Given the description of an element on the screen output the (x, y) to click on. 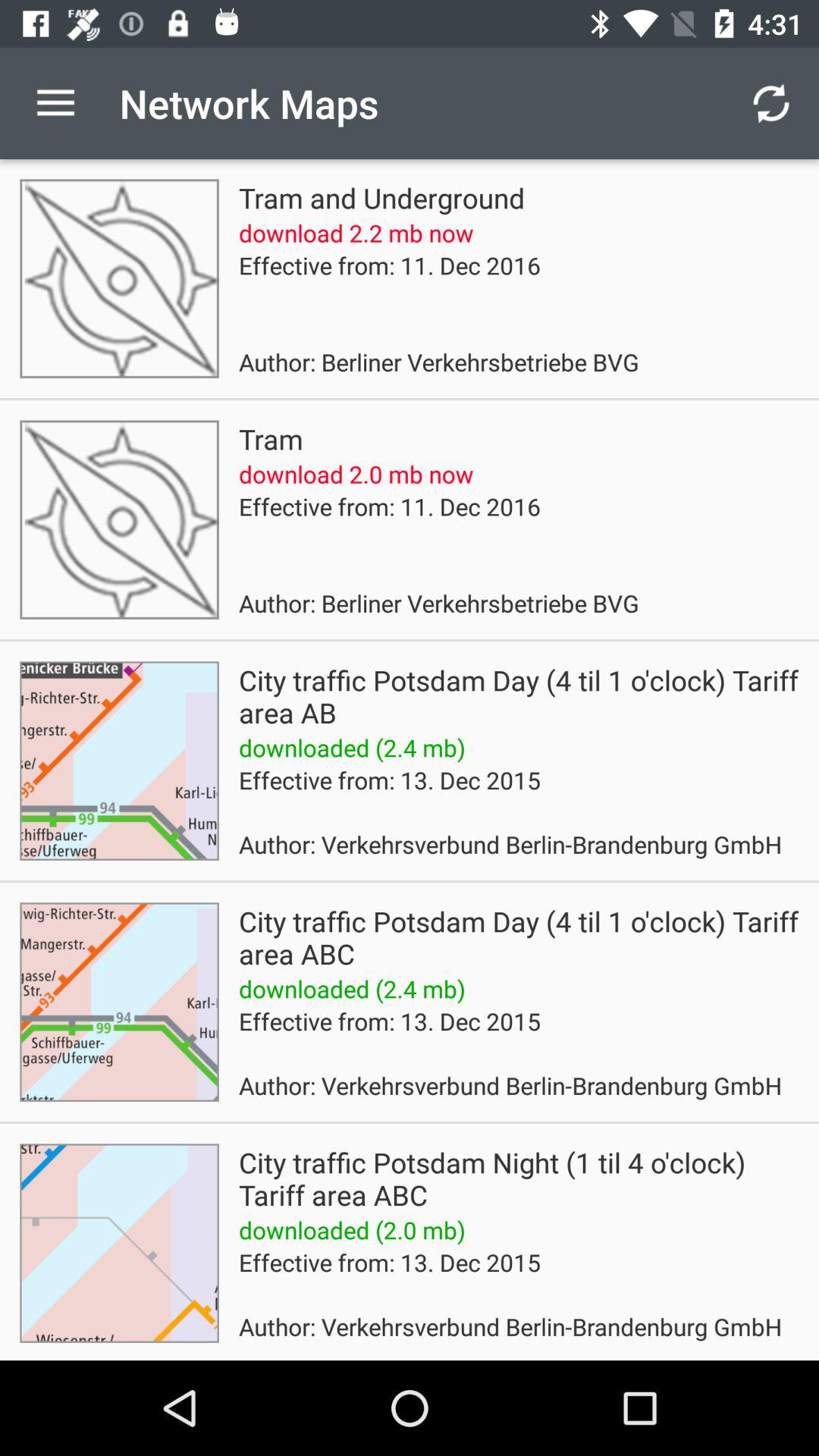
launch icon above the city traffic potsdam (771, 103)
